Given the description of an element on the screen output the (x, y) to click on. 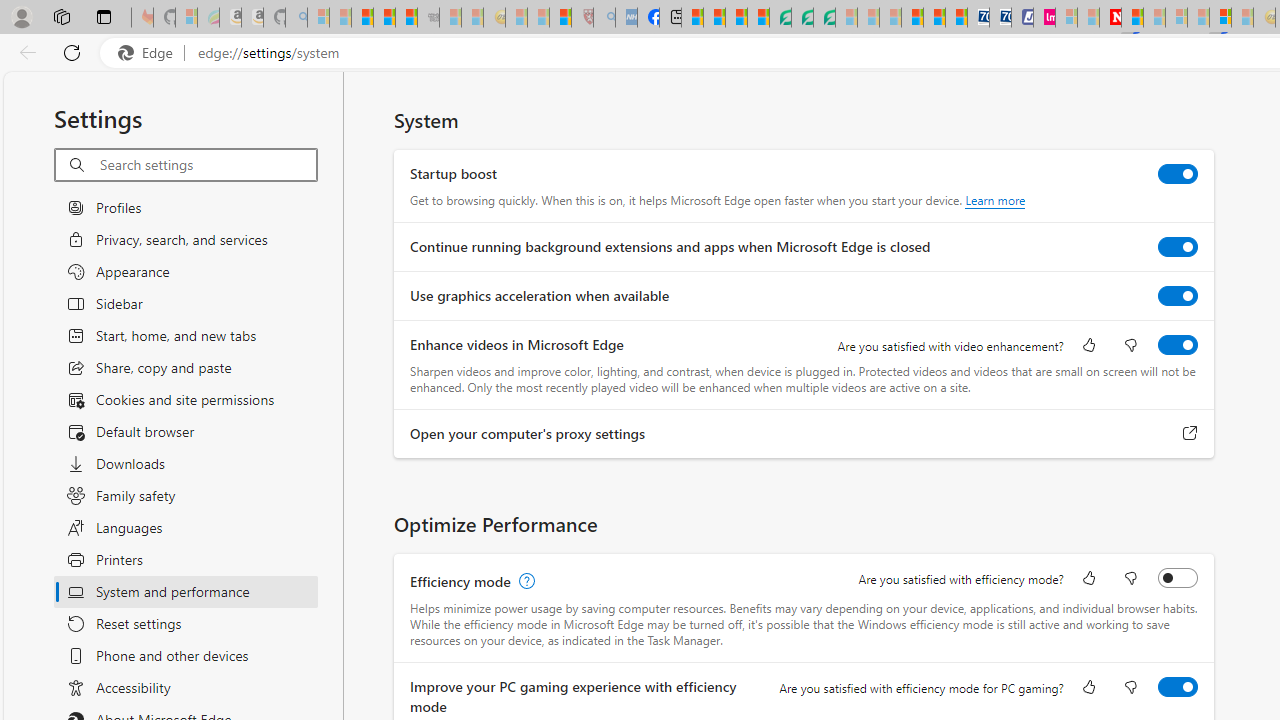
Efficiency mode (1178, 578)
Efficiency mode, learn more (523, 582)
Use graphics acceleration when available (1178, 295)
Startup boost (1178, 174)
Learn more (995, 200)
